Given the description of an element on the screen output the (x, y) to click on. 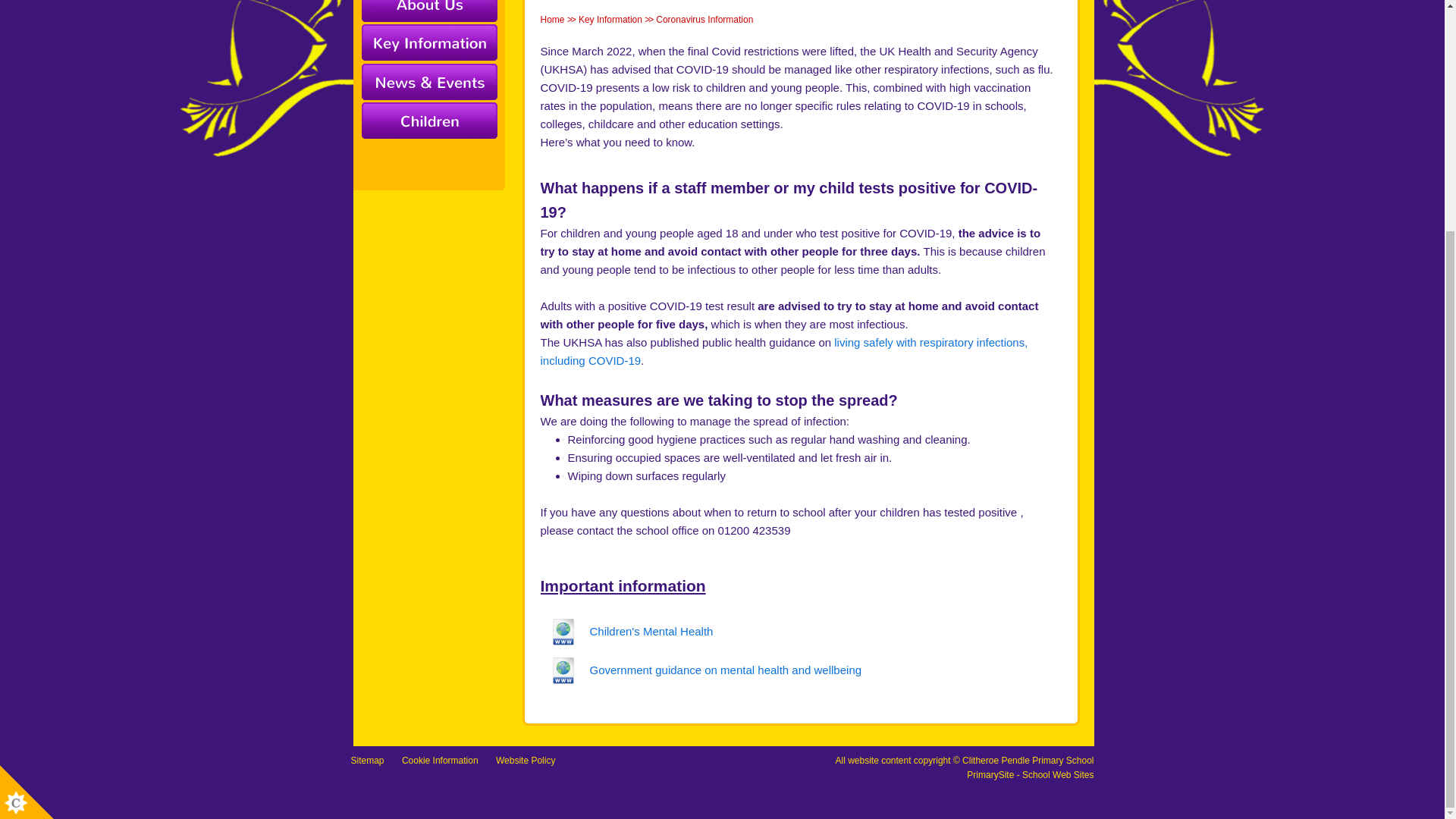
Key Information (428, 43)
Key Information (610, 19)
About Us (428, 12)
Government guidance on mental health and wellbeing (700, 669)
Home (552, 19)
Children's Mental Health (626, 631)
Coronavirus Information (704, 19)
News and Events (428, 82)
